Given the description of an element on the screen output the (x, y) to click on. 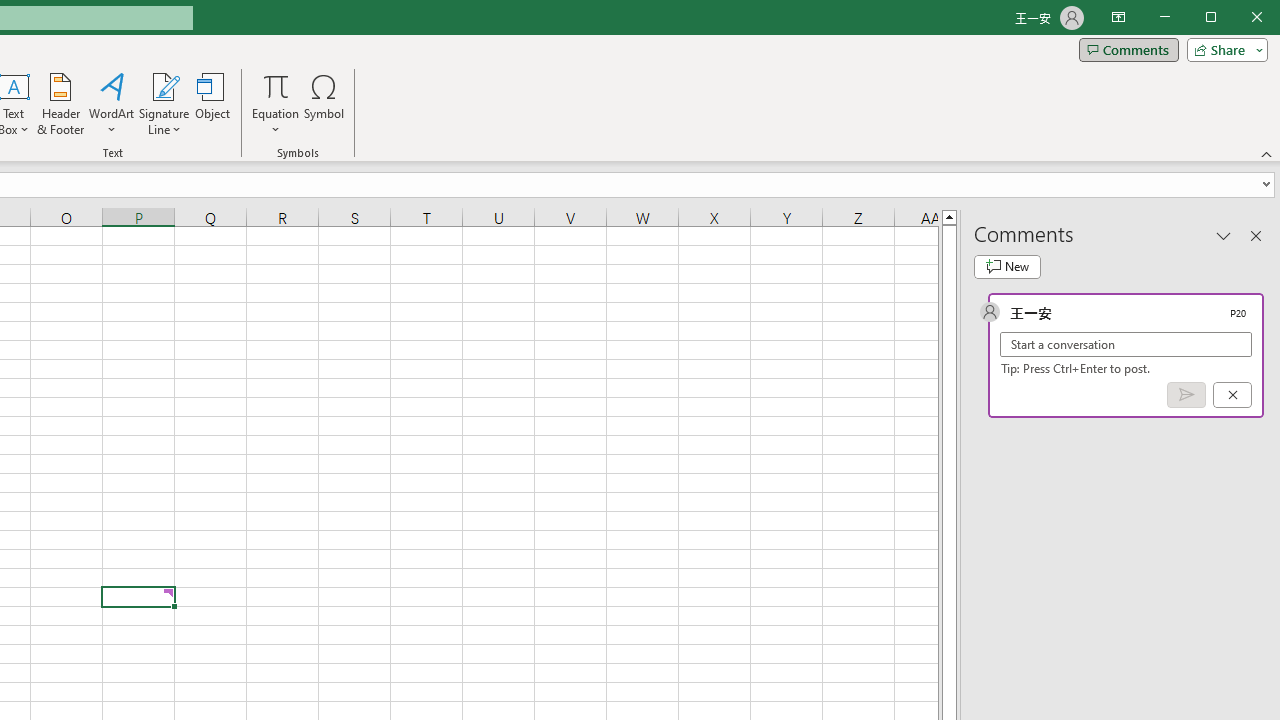
Close pane (1256, 235)
Cancel (1232, 395)
Minimize (1217, 18)
Signature Line (164, 104)
Maximize (1239, 18)
More Options (275, 123)
New comment (1007, 266)
WordArt (111, 104)
Equation (275, 86)
